Given the description of an element on the screen output the (x, y) to click on. 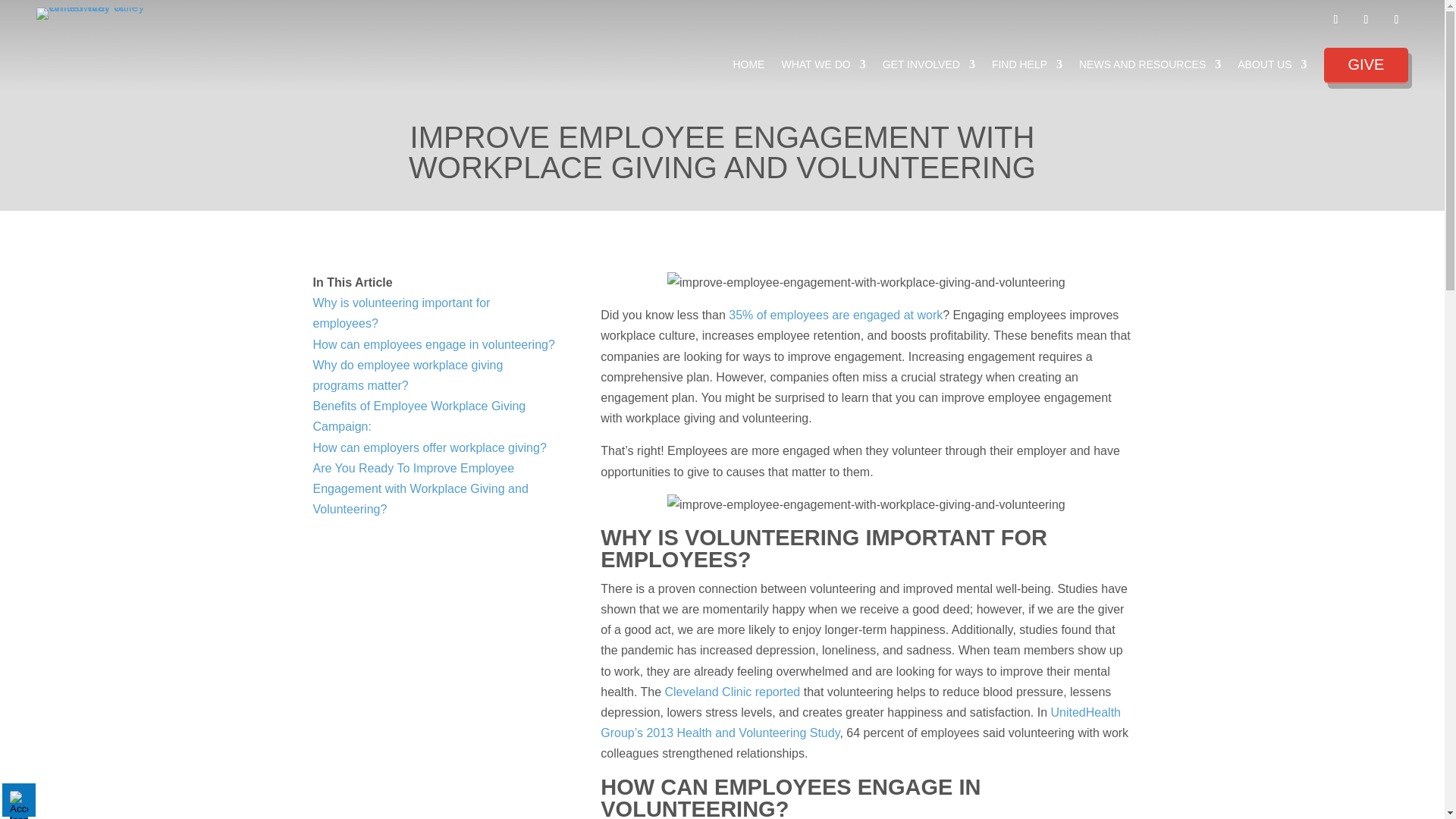
ABOUT US (1271, 70)
Cleveland Clinic reported (731, 691)
Why do employee workplace giving programs matter? (407, 375)
How can employees engage in volunteering? (433, 344)
Why is volunteering important for employees? (401, 313)
NEWS AND RESOURCES (1149, 70)
Follow on Facebook (1335, 19)
GET INVOLVED (928, 70)
FIND HELP (1026, 70)
Follow on X (1365, 19)
